Given the description of an element on the screen output the (x, y) to click on. 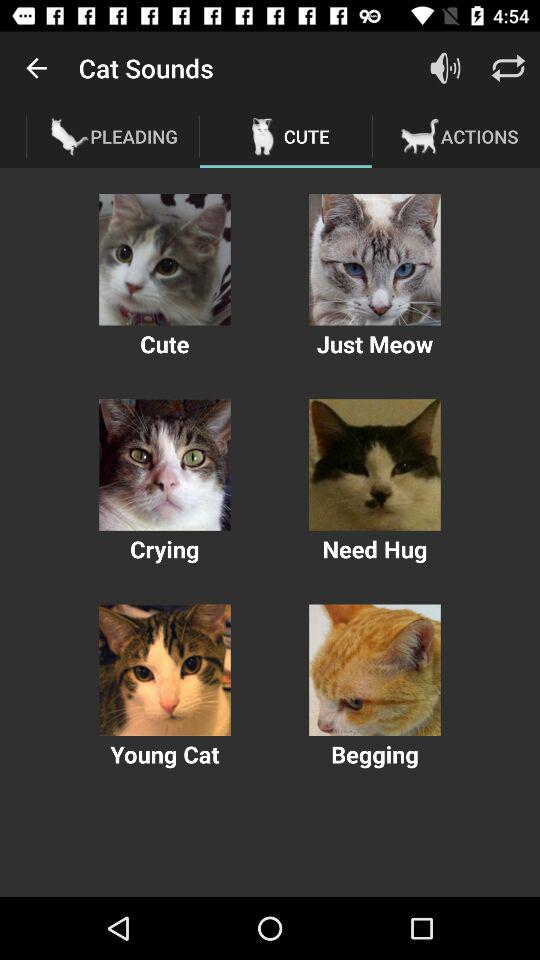
press icon to the left of cat sounds (36, 68)
